Given the description of an element on the screen output the (x, y) to click on. 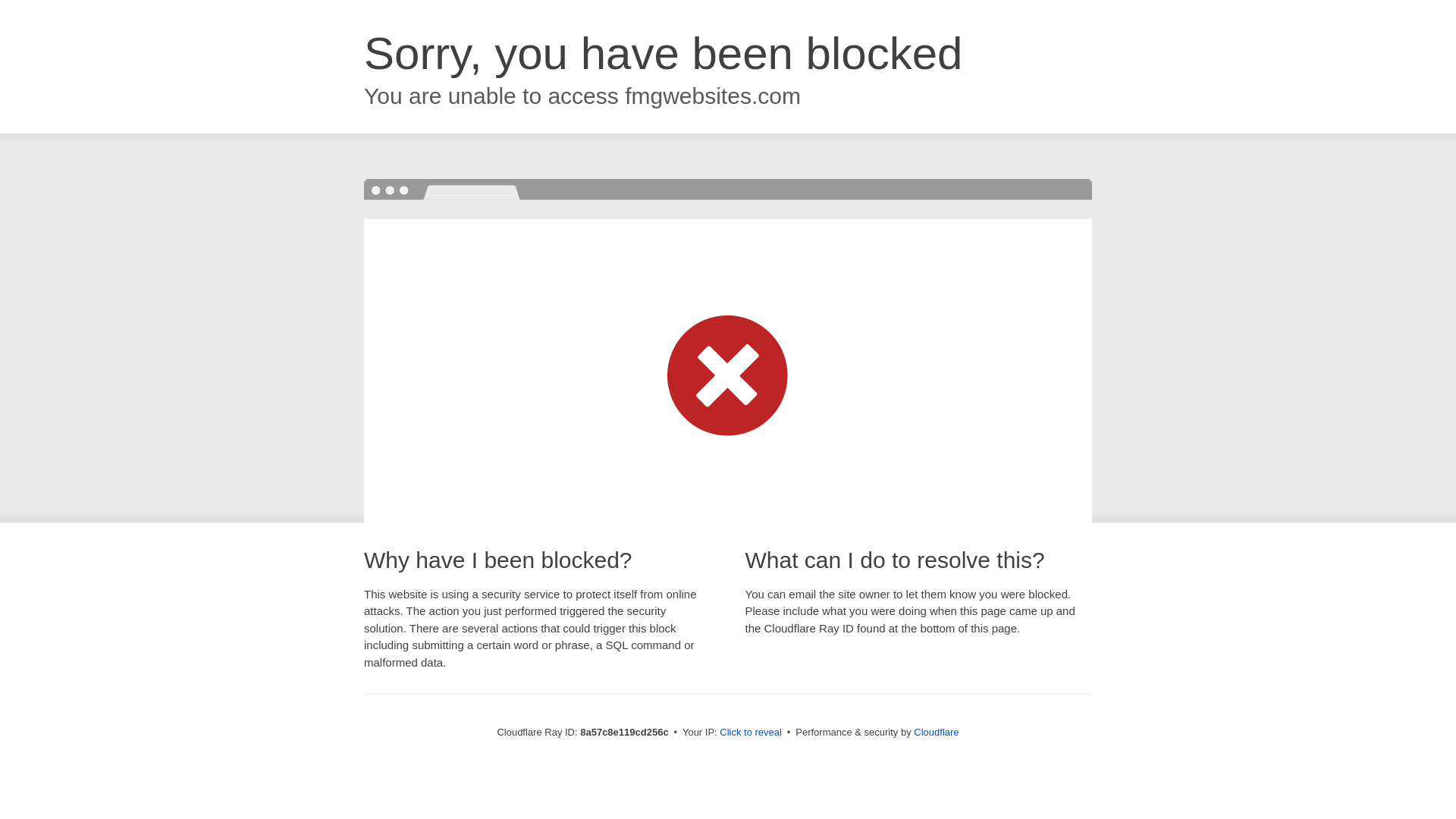
Click to reveal (750, 732)
Cloudflare (936, 731)
